Given the description of an element on the screen output the (x, y) to click on. 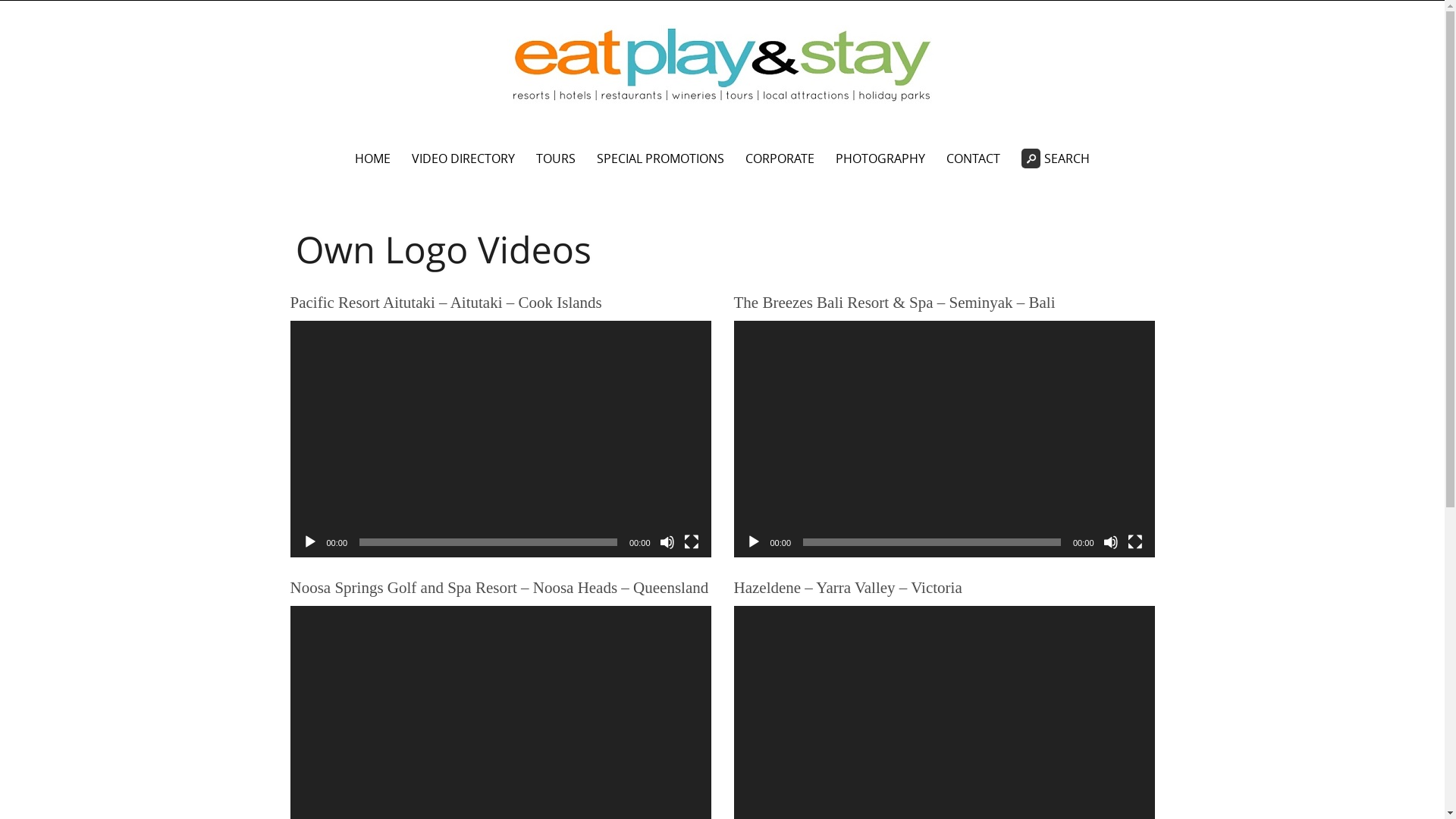
VIDEO DIRECTORY Element type: text (463, 158)
Skip to content Element type: text (0, 0)
Play Element type: hover (753, 541)
Mute Element type: hover (666, 541)
Play Element type: hover (308, 541)
SEARCH Element type: text (1055, 158)
Mute Element type: hover (1109, 541)
Fullscreen Element type: hover (1134, 541)
TOURS Element type: text (555, 158)
HOME Element type: text (372, 158)
CONTACT Element type: text (973, 158)
Eat, Play and Stay  Element type: hover (721, 67)
SPECIAL PROMOTIONS Element type: text (660, 158)
PHOTOGRAPHY Element type: text (880, 158)
CORPORATE Element type: text (779, 158)
Fullscreen Element type: hover (691, 541)
Skip to content Element type: text (274, 139)
